Given the description of an element on the screen output the (x, y) to click on. 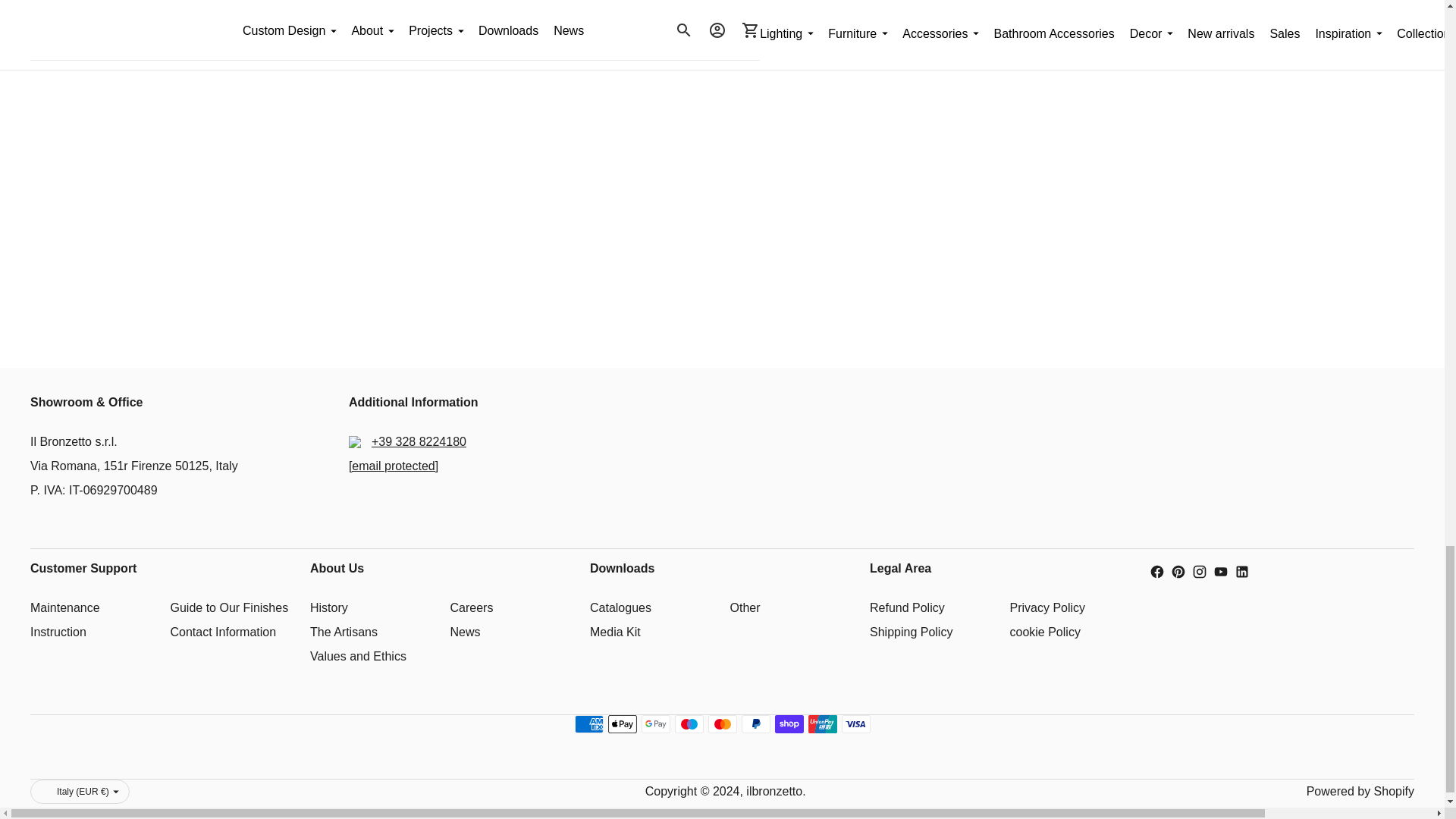
ilbronzetto on Instagram (1199, 571)
ilbronzetto on YouTube (1220, 571)
ilbronzetto on Pinterest (1178, 571)
ilbronzetto on LinkedIn (1241, 571)
ilbronzetto on Facebook (1157, 571)
